Given the description of an element on the screen output the (x, y) to click on. 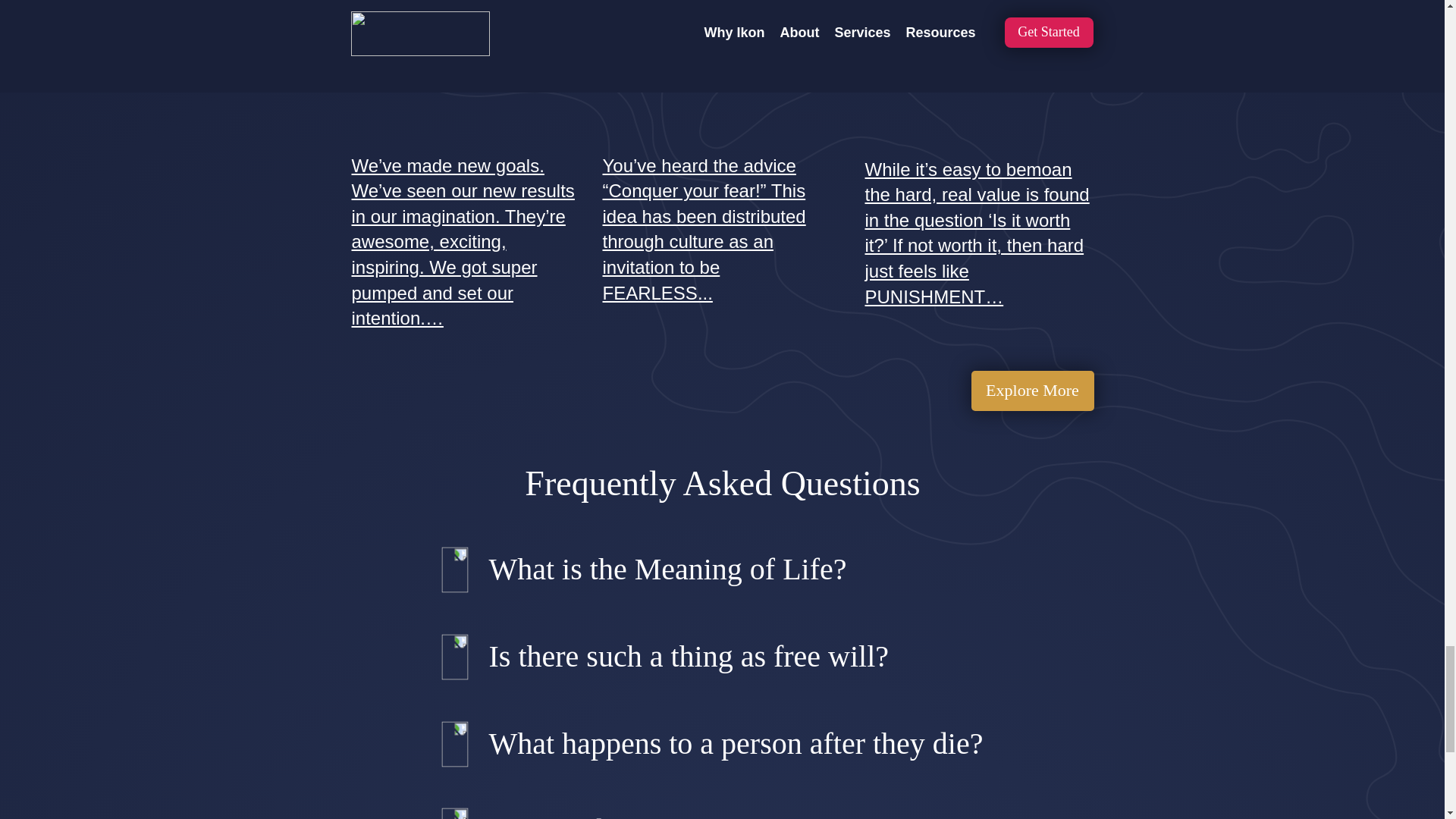
FAQ Arrow.png (463, 734)
FAQ Arrow.png (463, 646)
FAQ Arrow.png (463, 560)
FAQ Arrow.png (463, 813)
Explore More (1032, 391)
